Given the description of an element on the screen output the (x, y) to click on. 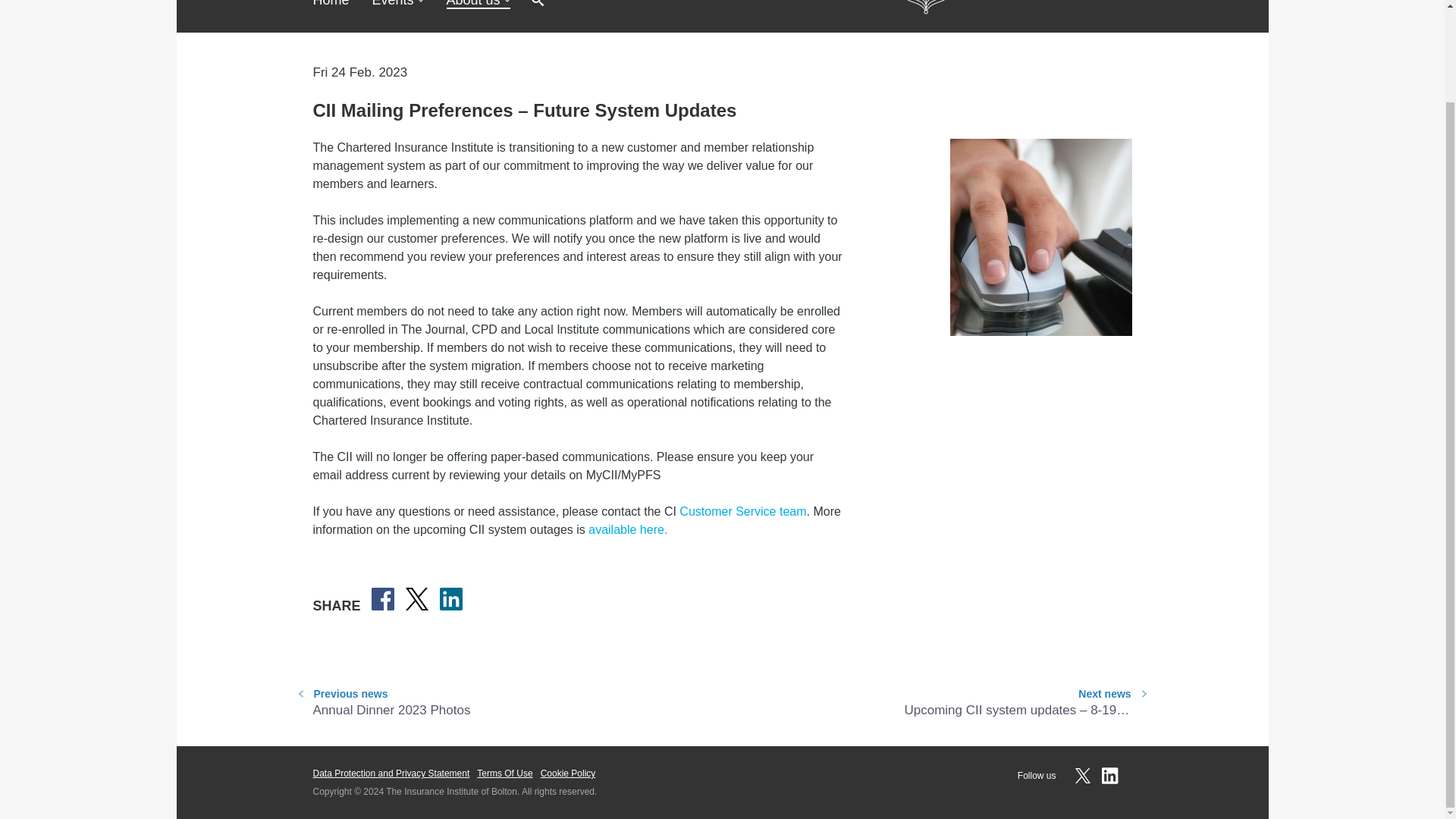
Data Protection and Privacy Statement (390, 773)
Terms Of Use (504, 773)
available here. (627, 529)
Go (735, 6)
Cookie Policy (567, 773)
Customer Service team (722, 700)
Home (742, 511)
Events (331, 3)
